Given the description of an element on the screen output the (x, y) to click on. 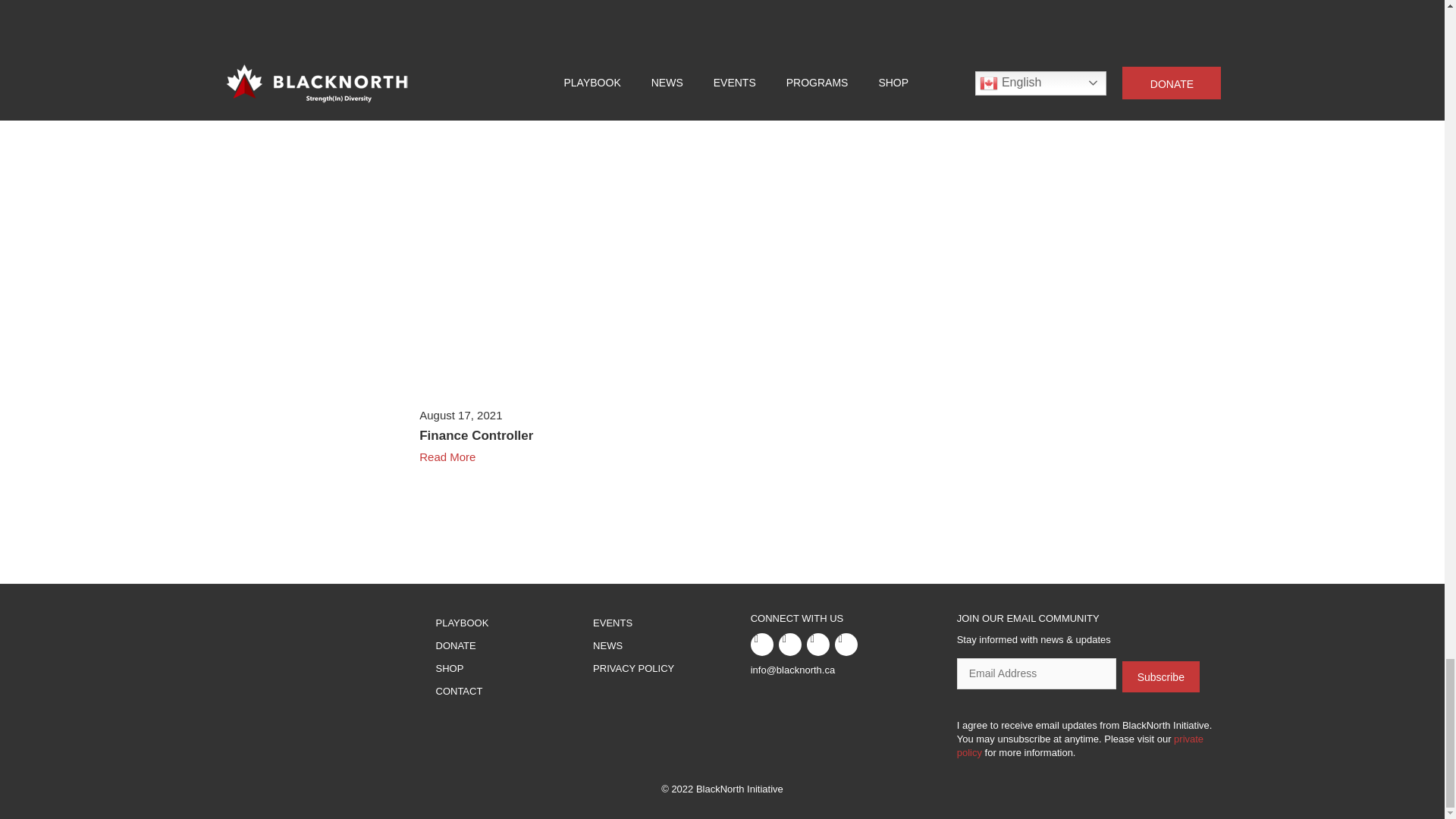
Finance Controller (475, 435)
Read More (722, 455)
Subscribe (1160, 676)
